Given the description of an element on the screen output the (x, y) to click on. 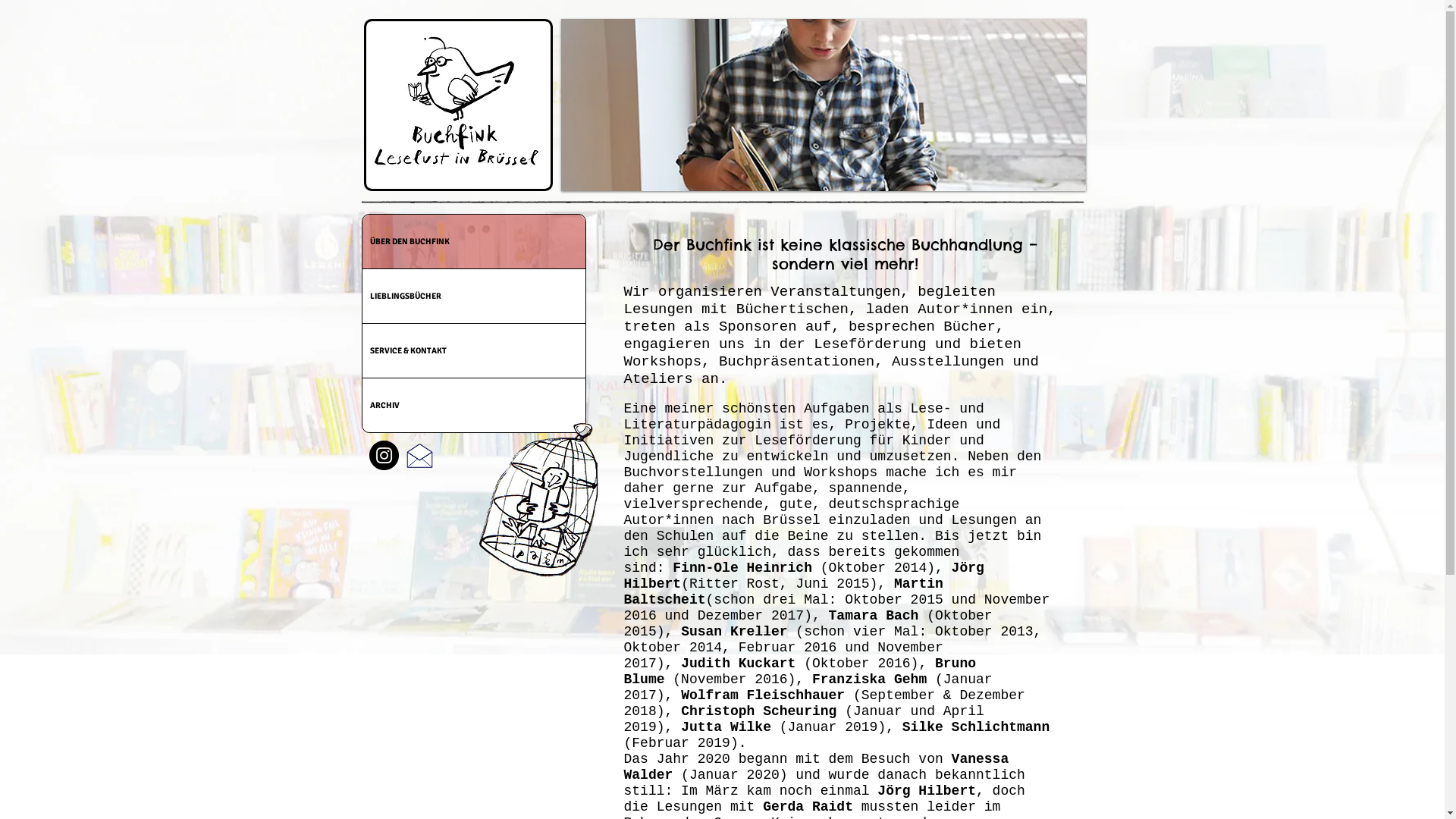
ARCHIV Element type: text (473, 405)
Fink_kaefig.png Element type: hover (538, 499)
SERVICE & KONTAKT Element type: text (473, 350)
